Given the description of an element on the screen output the (x, y) to click on. 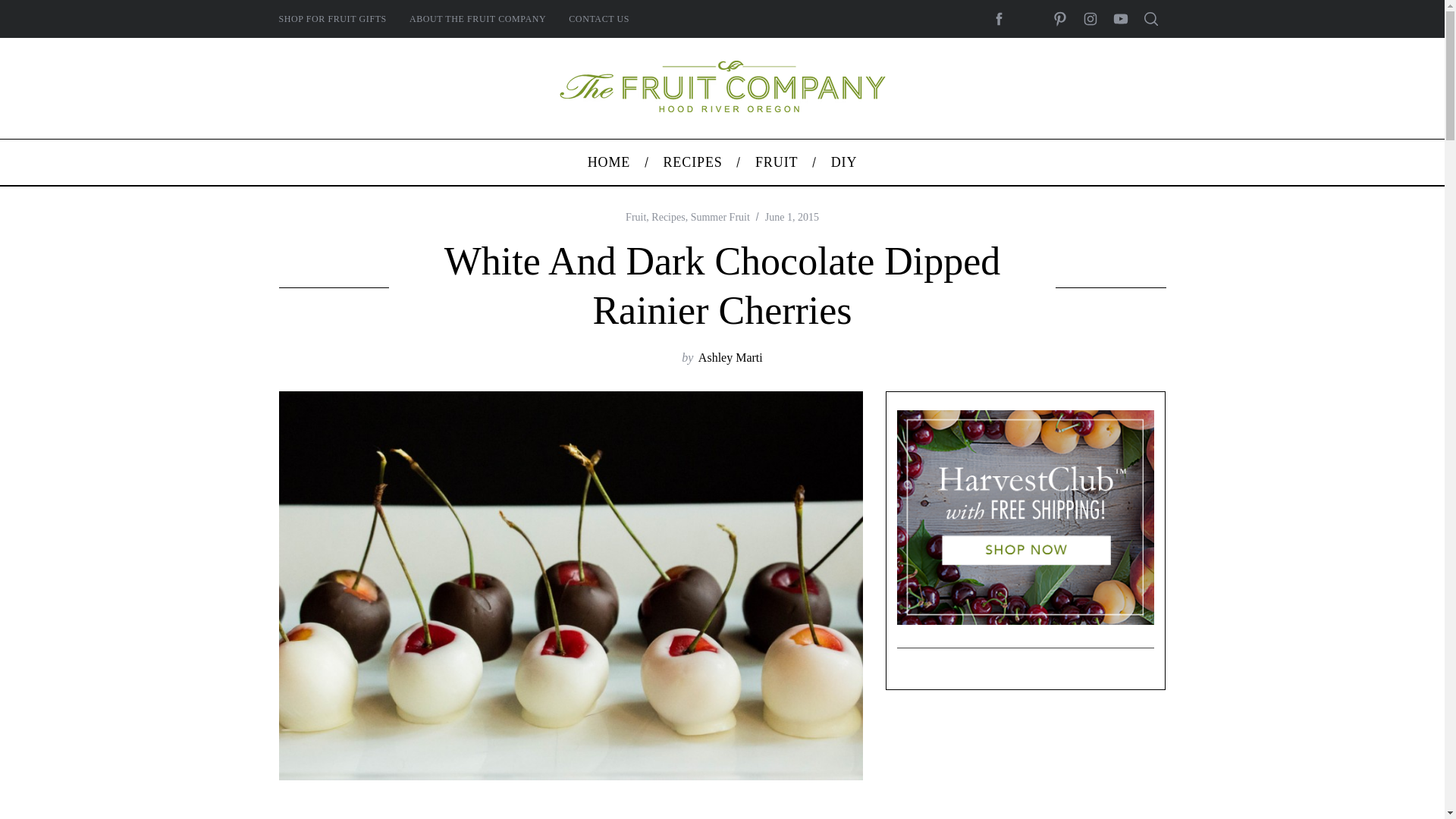
SHOP FOR FRUIT GIFTS (331, 18)
HOME (608, 162)
RECIPES (692, 162)
Summer Fruit (719, 216)
DIY (843, 162)
Ashley Marti (730, 357)
FRUIT (775, 162)
ABOUT THE FRUIT COMPANY (477, 18)
CONTACT US (598, 18)
